Given the description of an element on the screen output the (x, y) to click on. 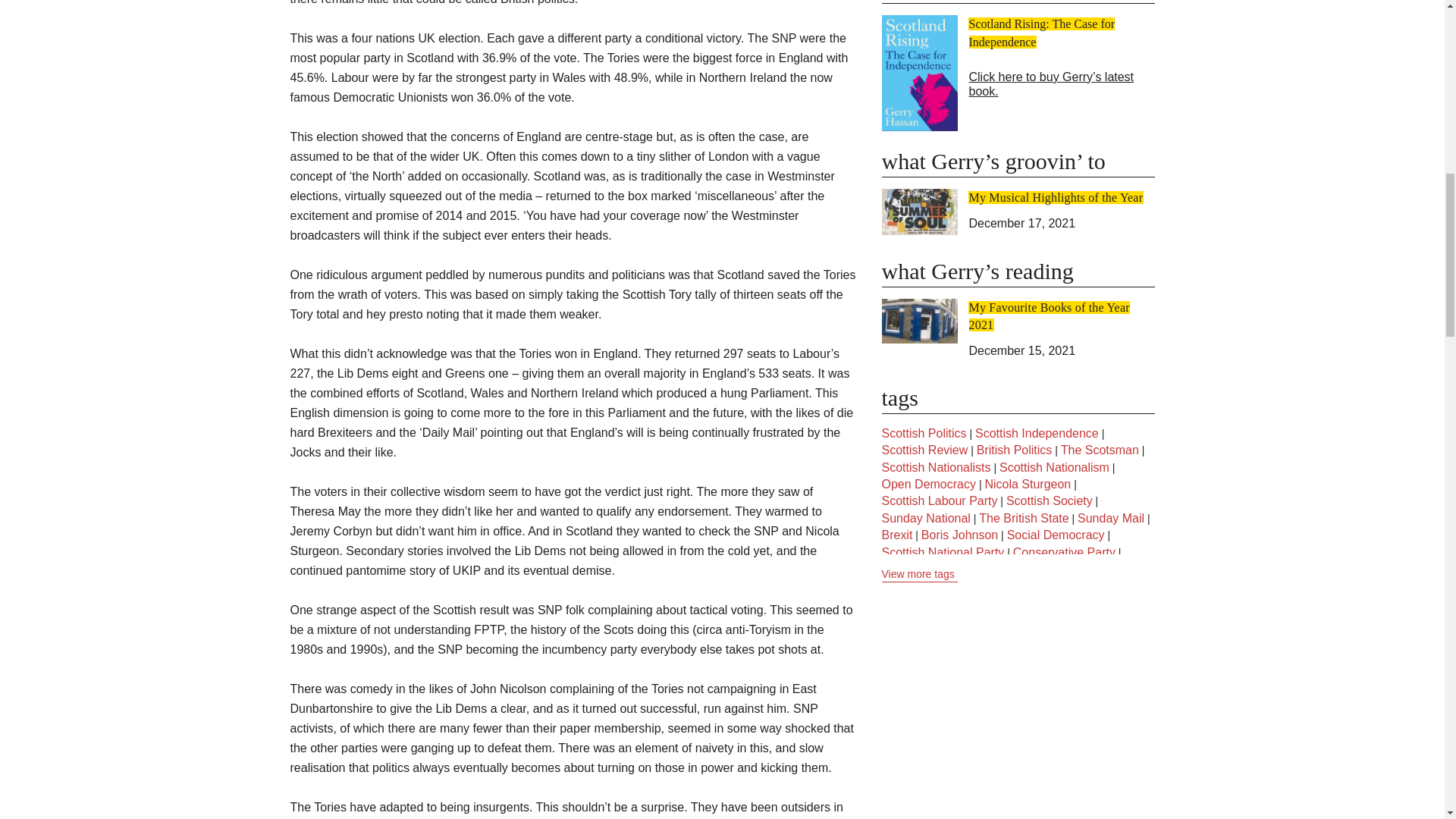
Scottish Politics (923, 433)
My Favourite Books of the Year 2021 (1049, 316)
Scottish Independence (1037, 433)
My Musical Highlights of the Year (1055, 196)
